Given the description of an element on the screen output the (x, y) to click on. 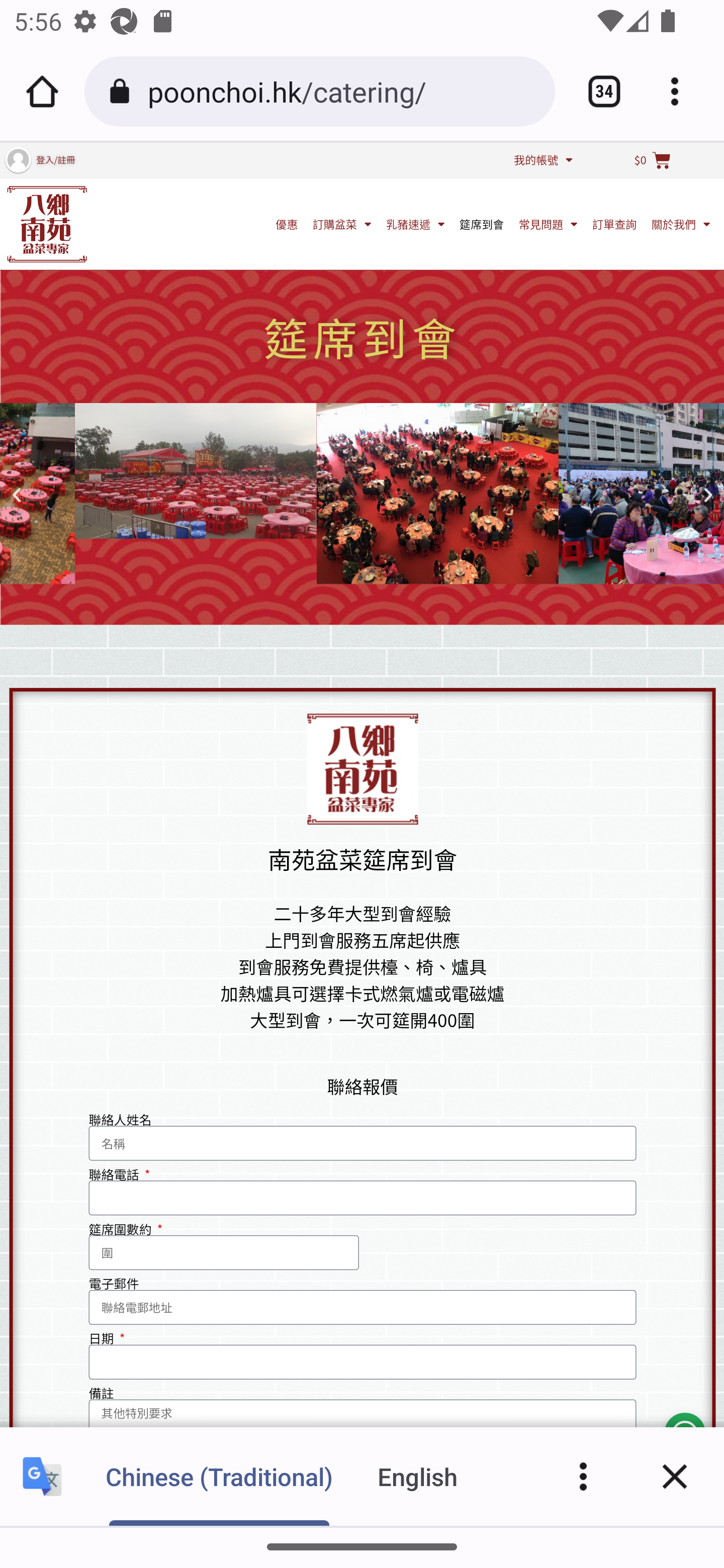
Home (42, 91)
Connection is secure (122, 91)
Switch or close tabs (597, 91)
More options (681, 91)
poonchoi.hk/catering/ (343, 90)
$0  購物籃 $ 0  (652, 159)
我的帳號  我的帳號  (543, 159)
my-account (17, 158)
登入/註冊 (55, 159)
www.poonchoi (46, 223)
訂購盆菜  訂購盆菜  (341, 223)
乳豬速遞  乳豬速遞  (414, 223)
筵席到會 (481, 223)
常見問題  常見問題  (547, 223)
訂單查詢 (614, 223)
關於我們  關於我們  (680, 223)
Previous slide Next slide (362, 494)
Previous slide (16, 495)
Next slide (708, 495)
筵席圍數約 * (223, 1252)
English (417, 1475)
More options (582, 1475)
Close (674, 1475)
